Given the description of an element on the screen output the (x, y) to click on. 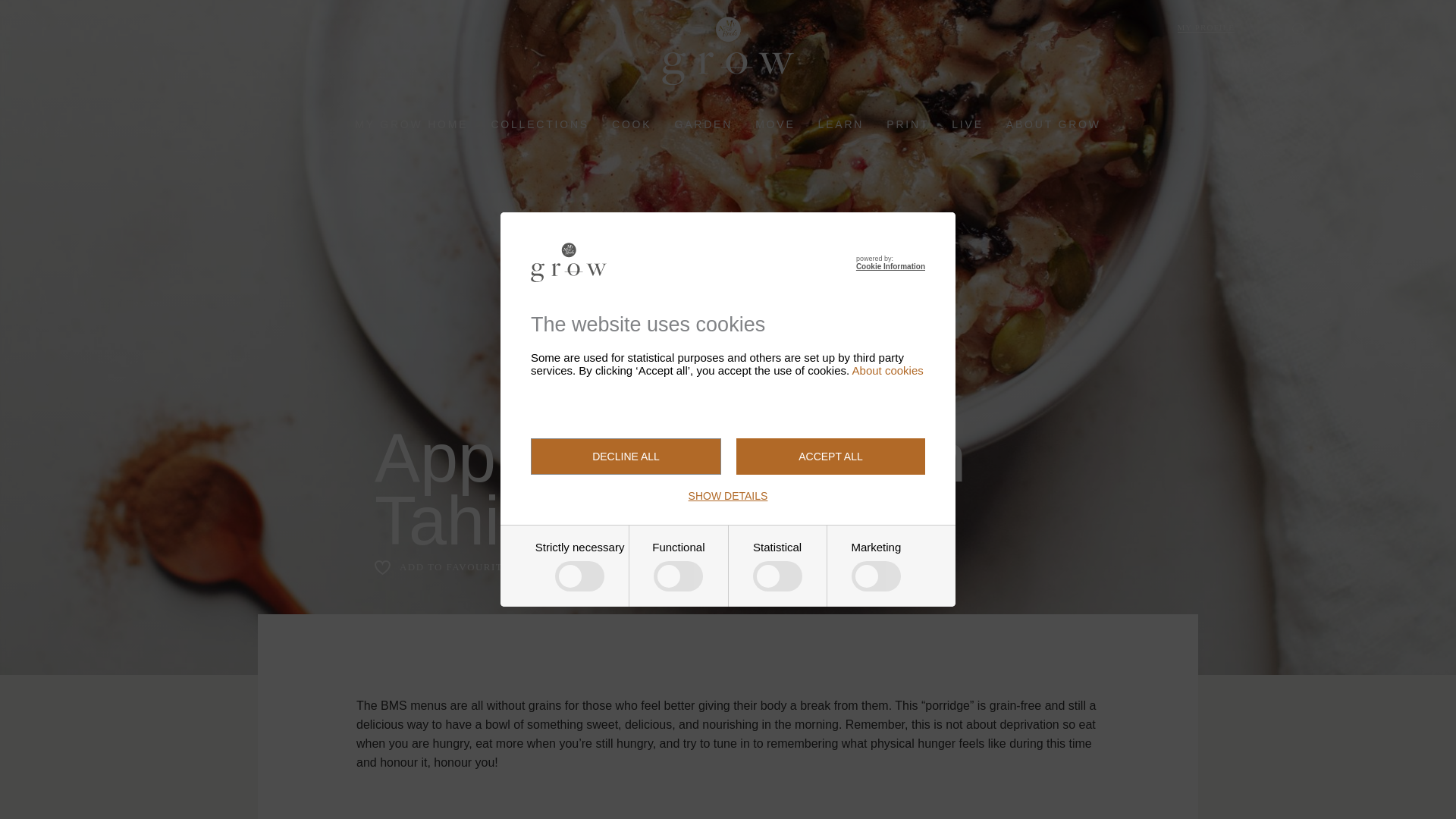
DECLINE ALL (625, 456)
Cookie Information (890, 266)
ACCEPT ALL (830, 456)
About cookies (887, 369)
SHOW DETAILS (728, 495)
